Given the description of an element on the screen output the (x, y) to click on. 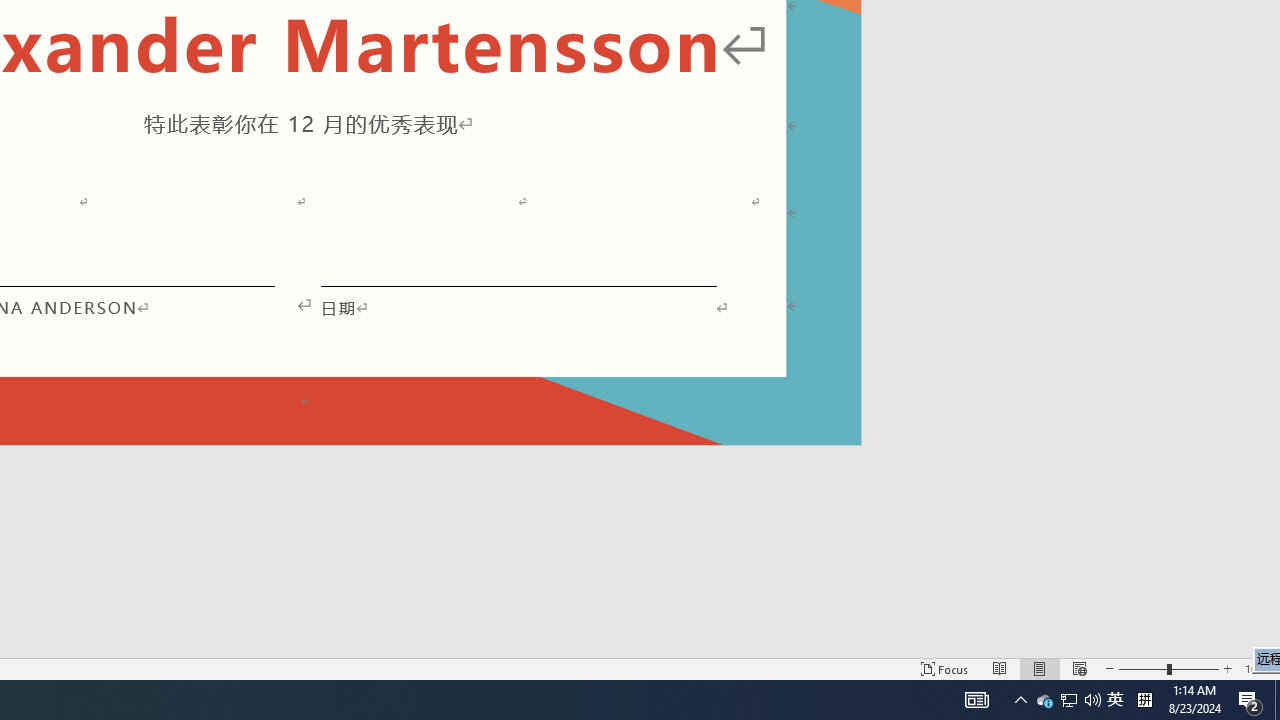
Zoom 100% (1258, 668)
Action Center, 2 new notifications (1250, 699)
